Given the description of an element on the screen output the (x, y) to click on. 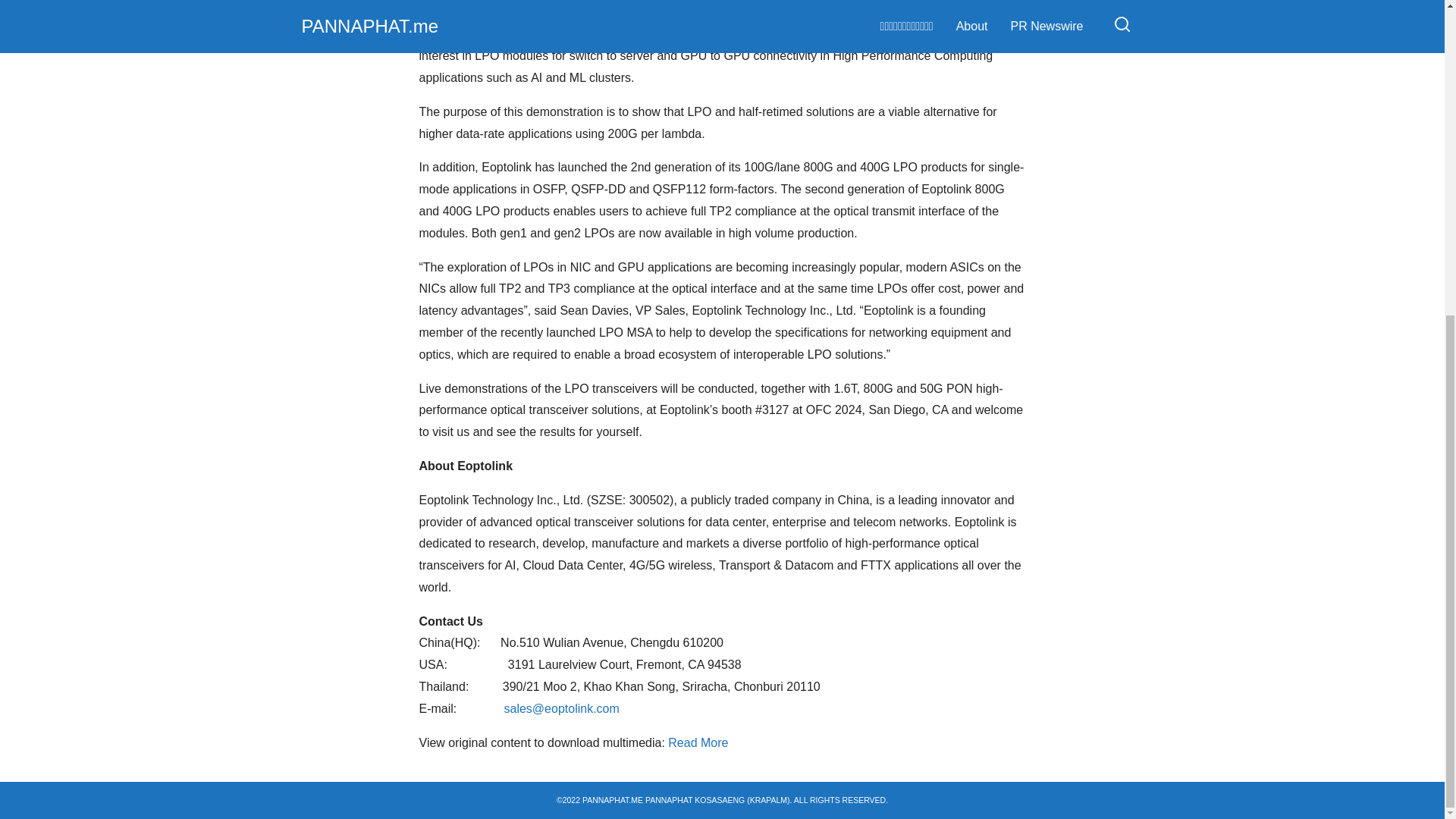
Read More (699, 742)
